Given the description of an element on the screen output the (x, y) to click on. 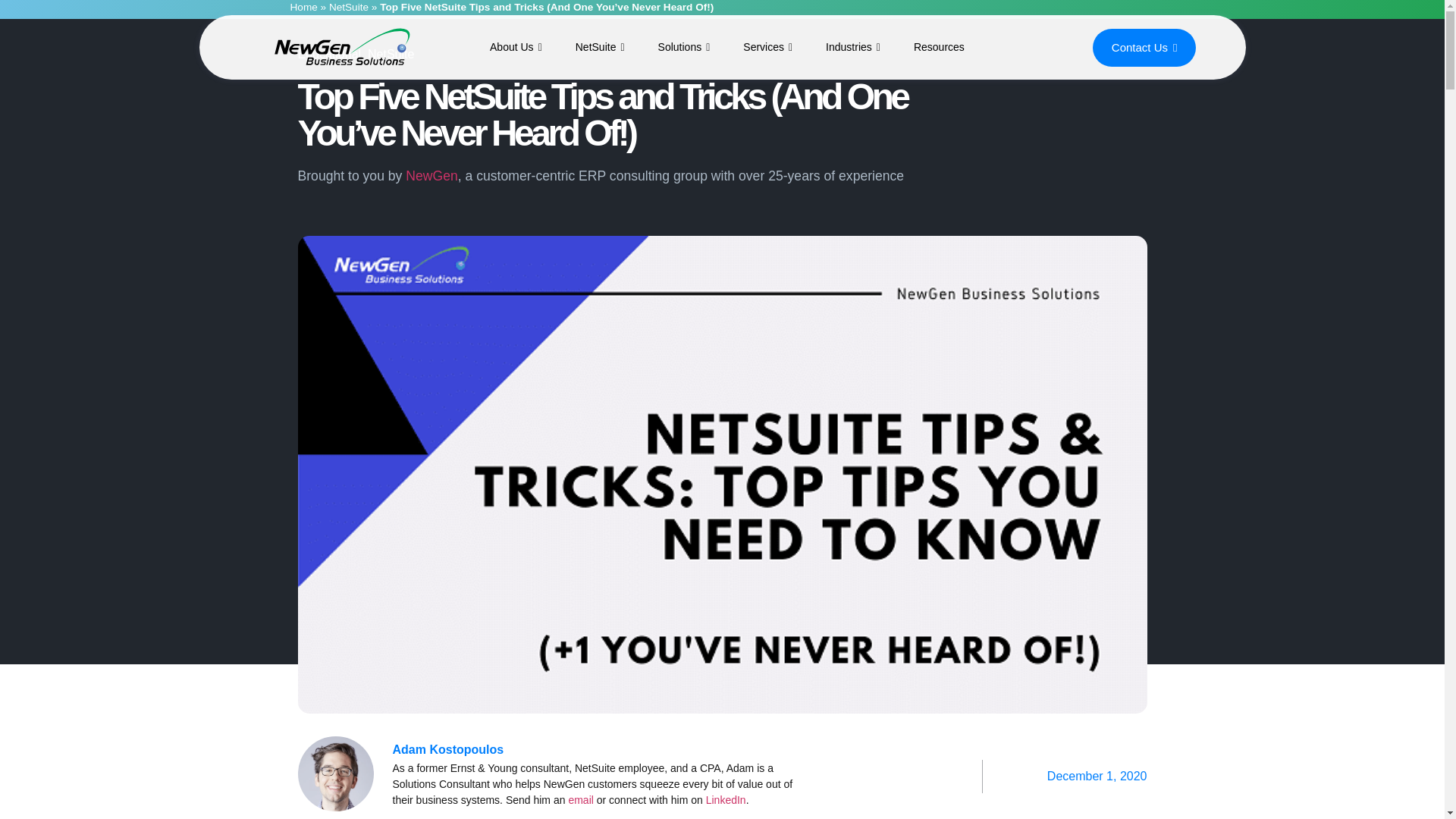
Industries (852, 47)
NetSuite (600, 47)
Solutions (684, 47)
Services (767, 47)
About Us (516, 47)
